Given the description of an element on the screen output the (x, y) to click on. 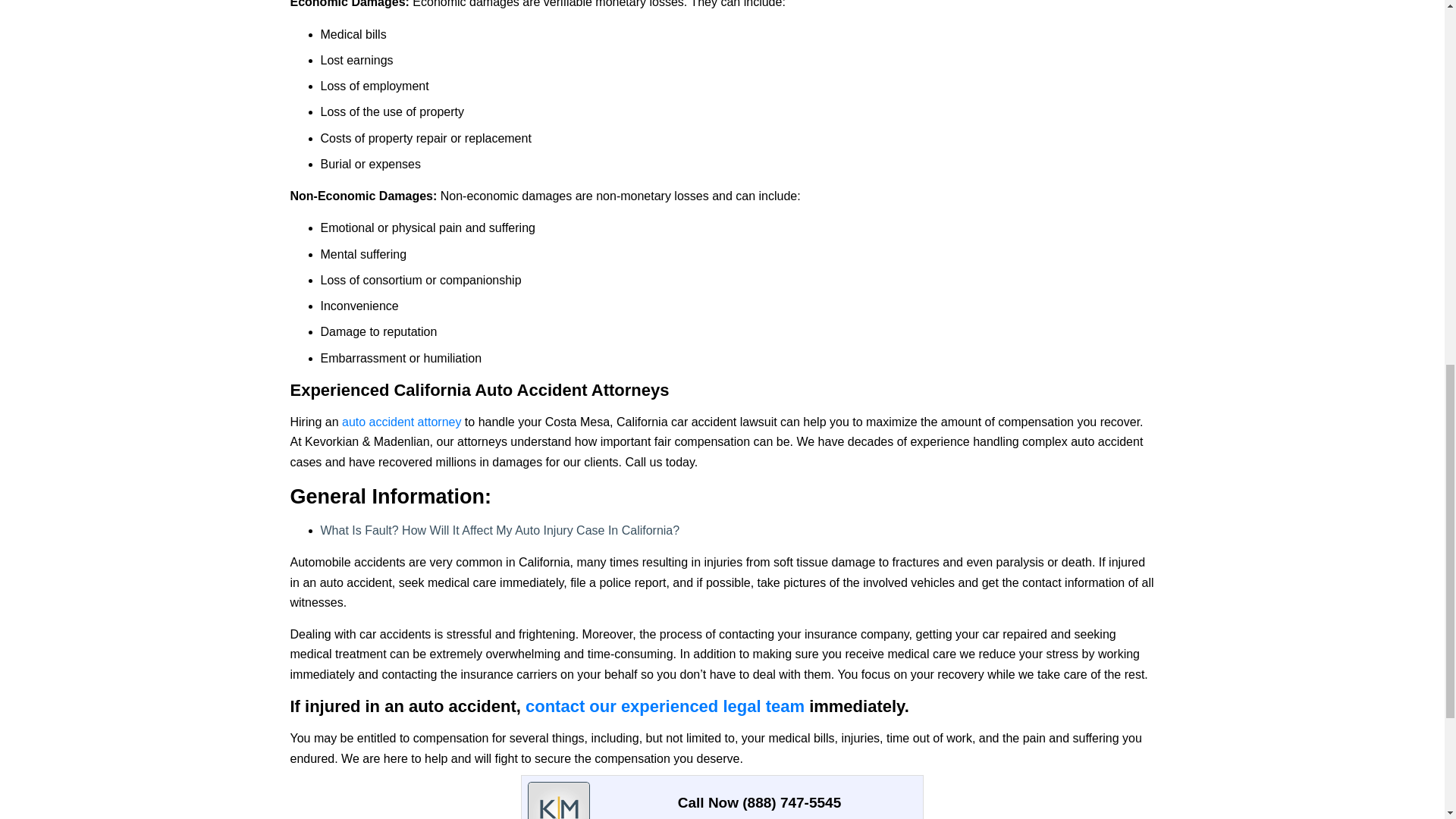
auto accident attorney (401, 421)
